Given the description of an element on the screen output the (x, y) to click on. 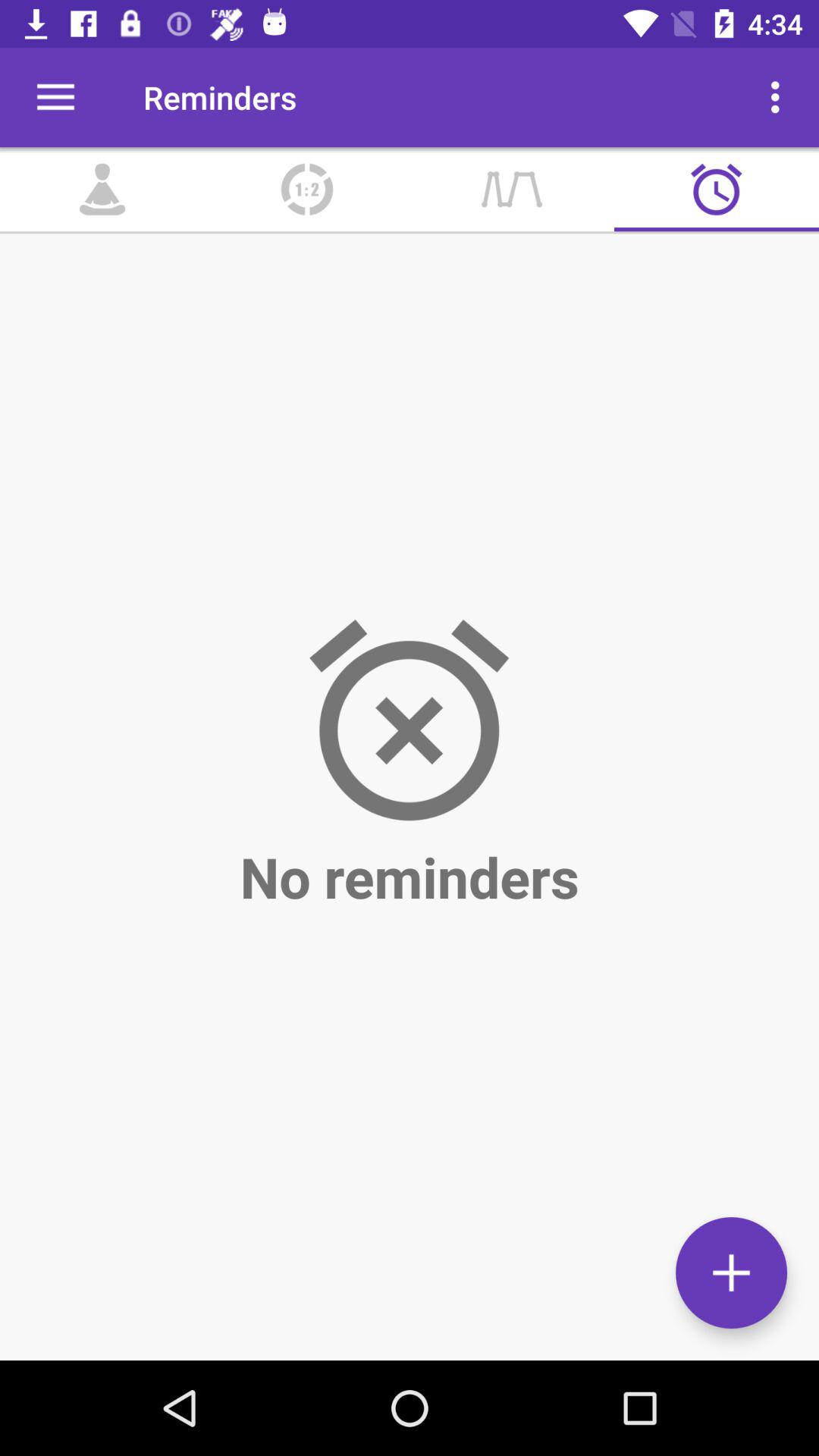
turn off the item to the left of reminders item (55, 97)
